Given the description of an element on the screen output the (x, y) to click on. 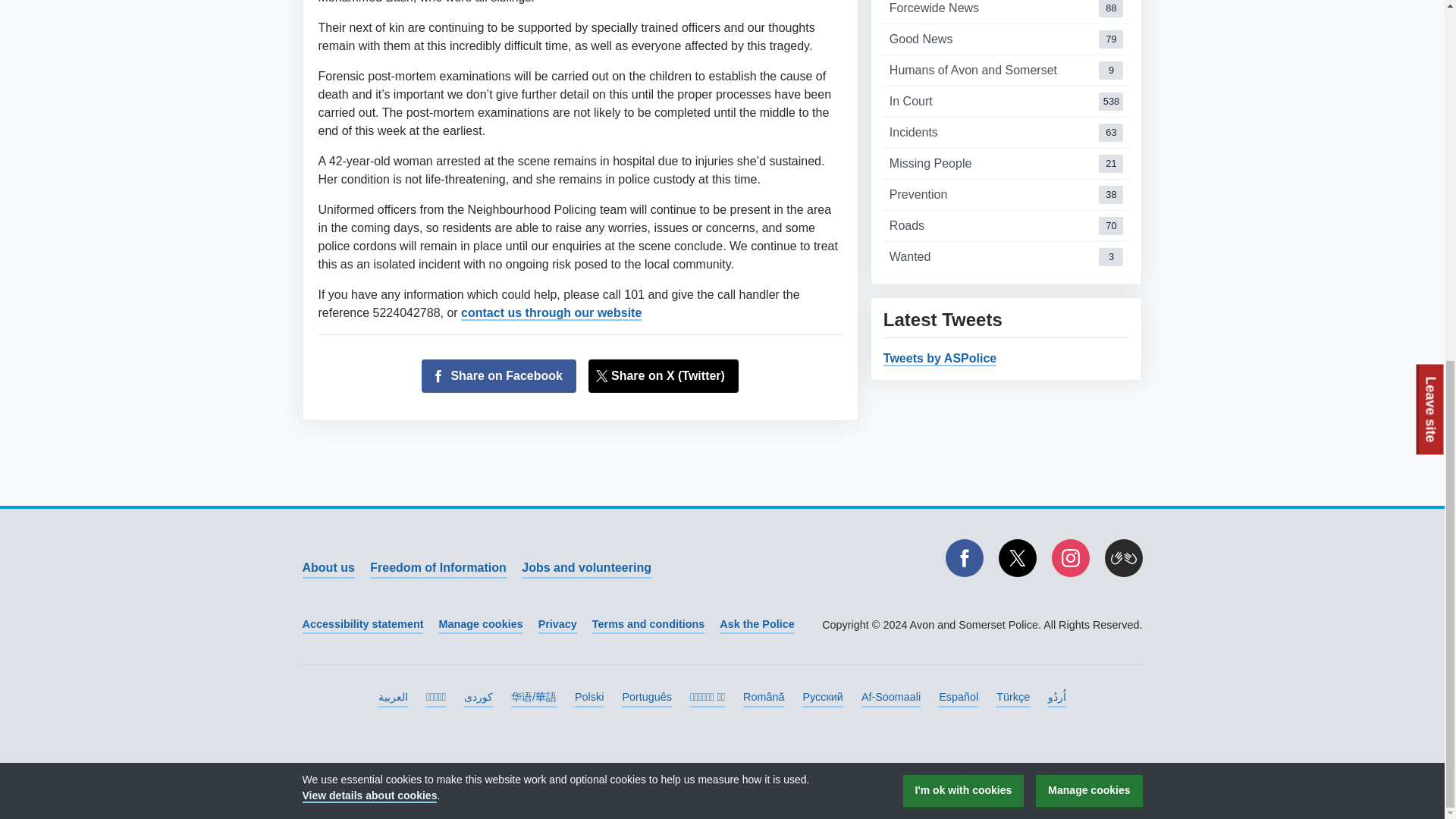
About us (1006, 225)
View details about cookies (327, 568)
Freedom of Information (368, 155)
I'm ok with cookies (1006, 39)
Jobs and volunteering (1006, 11)
Share on Facebook (437, 568)
BSL (963, 151)
Tweets by ASPolice (585, 568)
